Given the description of an element on the screen output the (x, y) to click on. 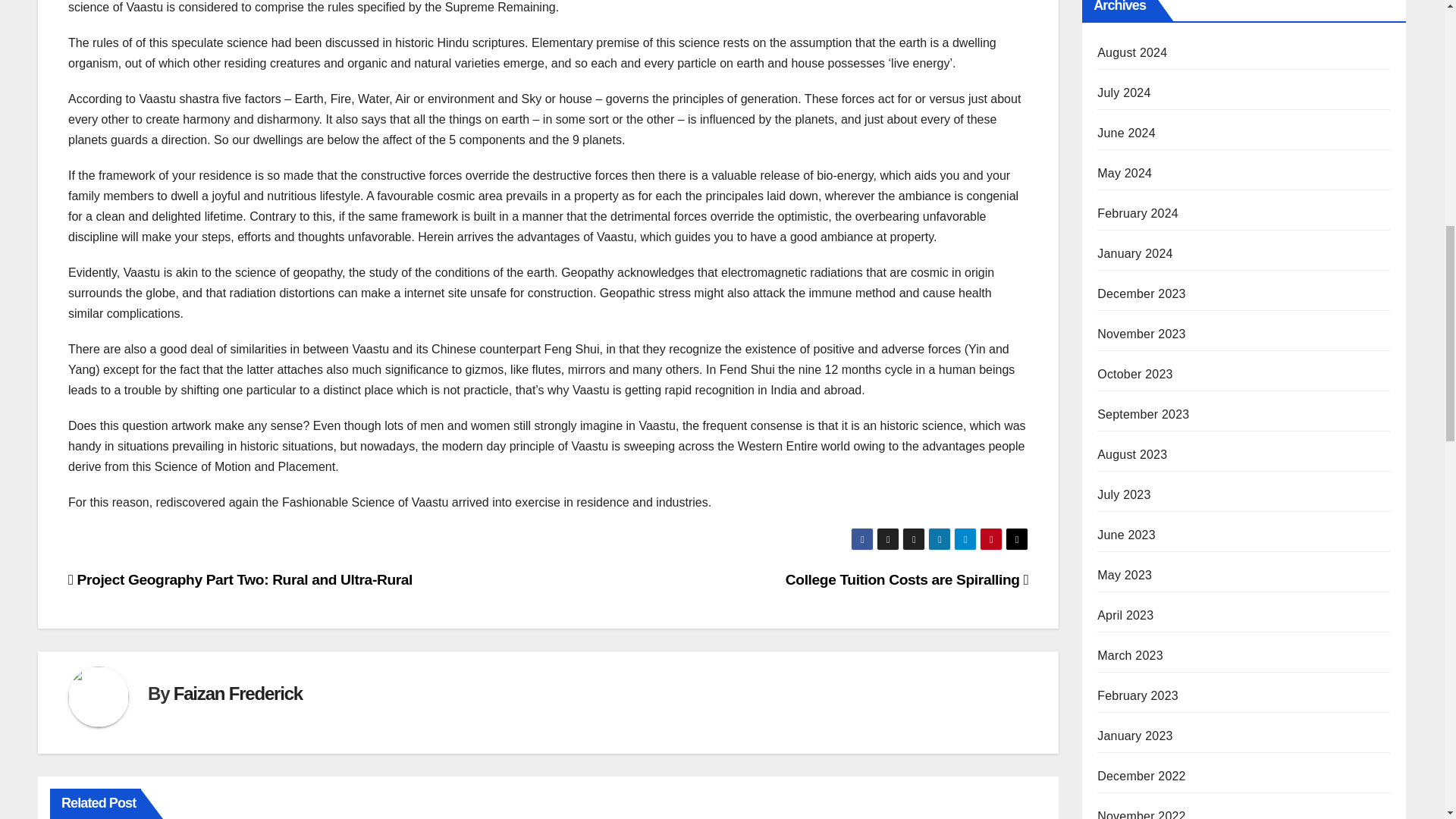
College Tuition Costs are Spiralling (906, 579)
